Given the description of an element on the screen output the (x, y) to click on. 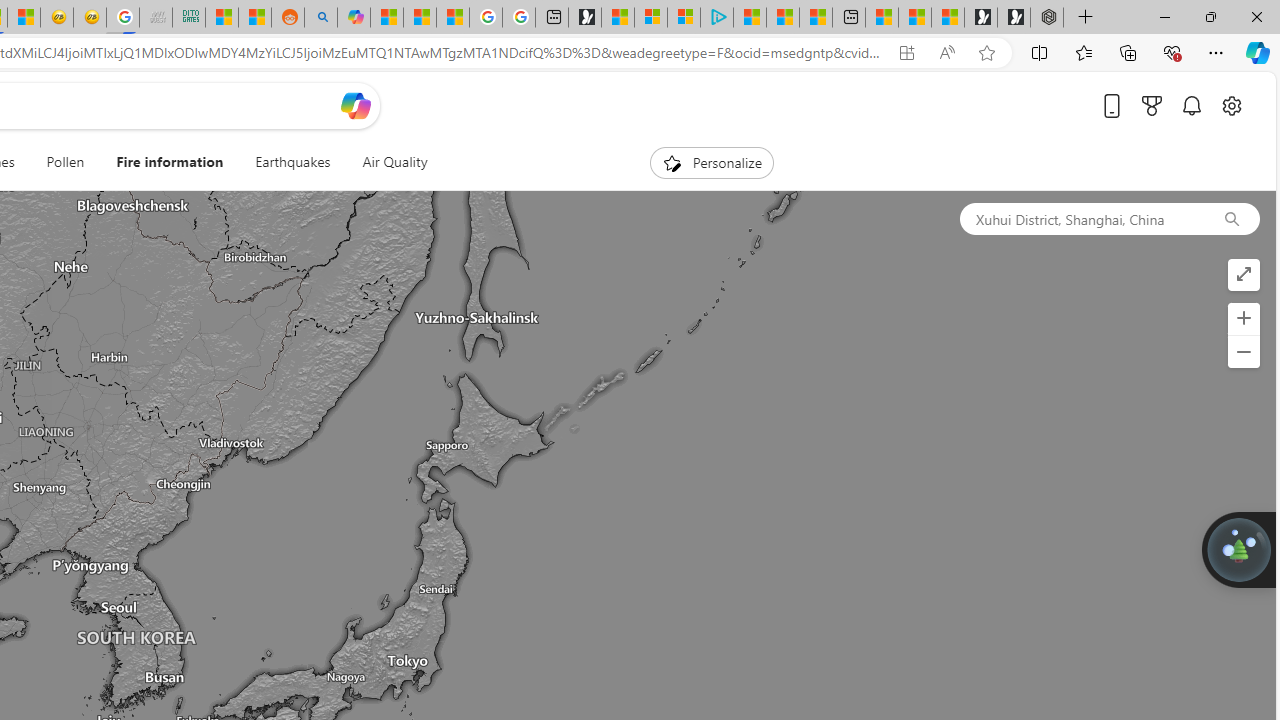
Xuhui District, Shanghai, China (1081, 218)
Zoom out (1243, 351)
Earthquakes (292, 162)
